Given the description of an element on the screen output the (x, y) to click on. 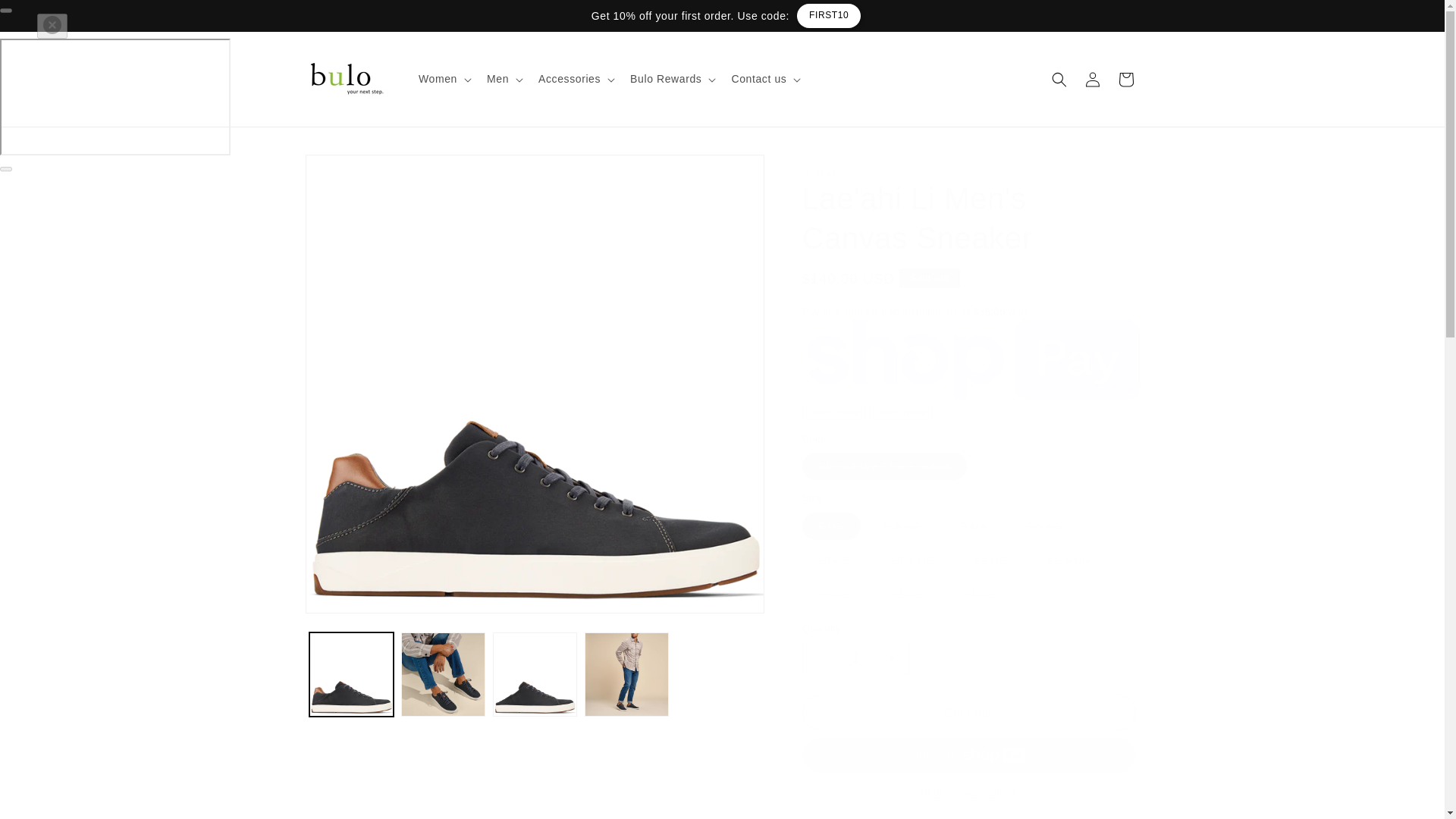
1 (856, 657)
FIRST10 (817, 15)
Skip to content (45, 17)
